Given the description of an element on the screen output the (x, y) to click on. 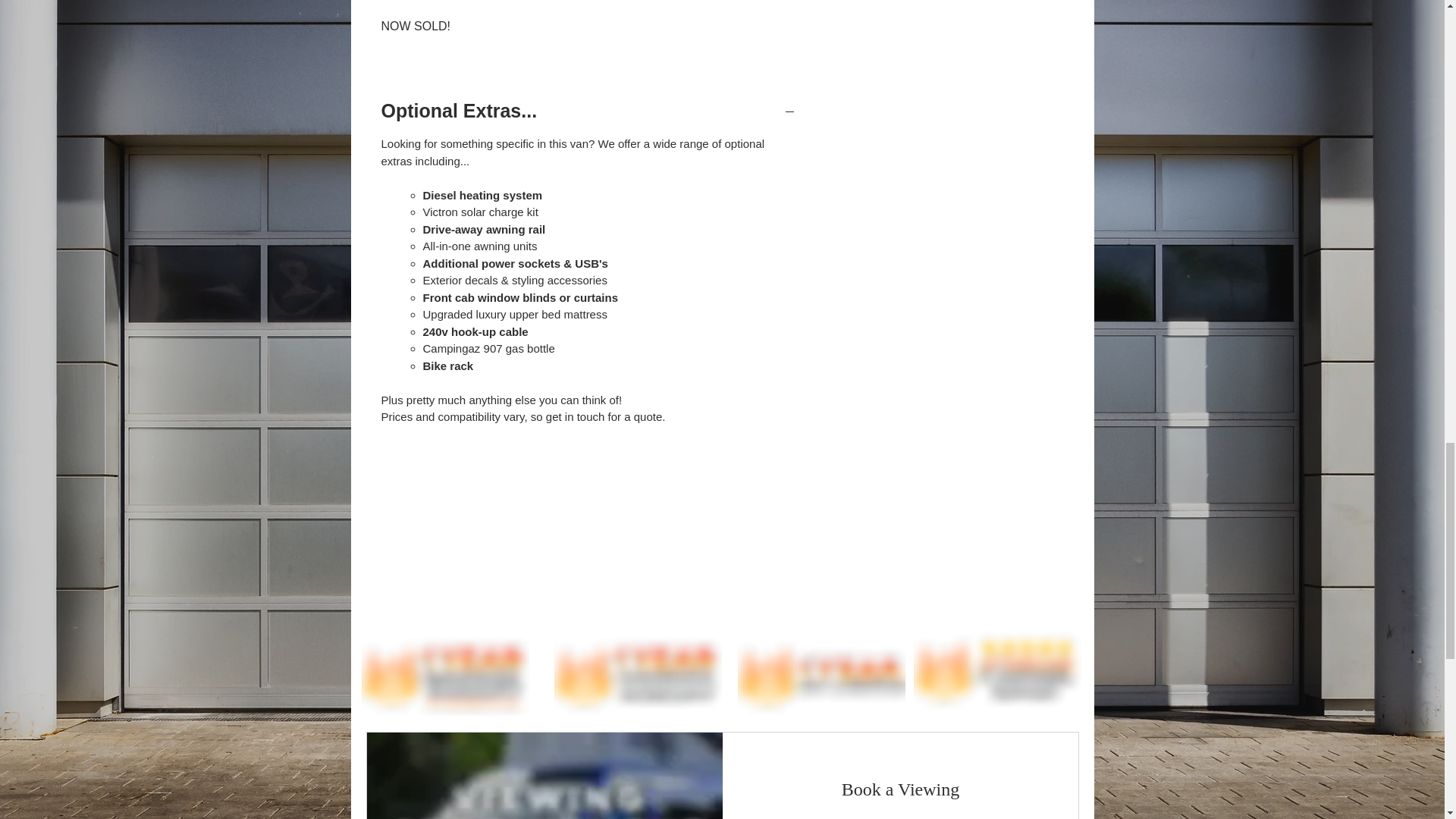
Book a Viewing (899, 790)
Optional Extras... (587, 110)
